Given the description of an element on the screen output the (x, y) to click on. 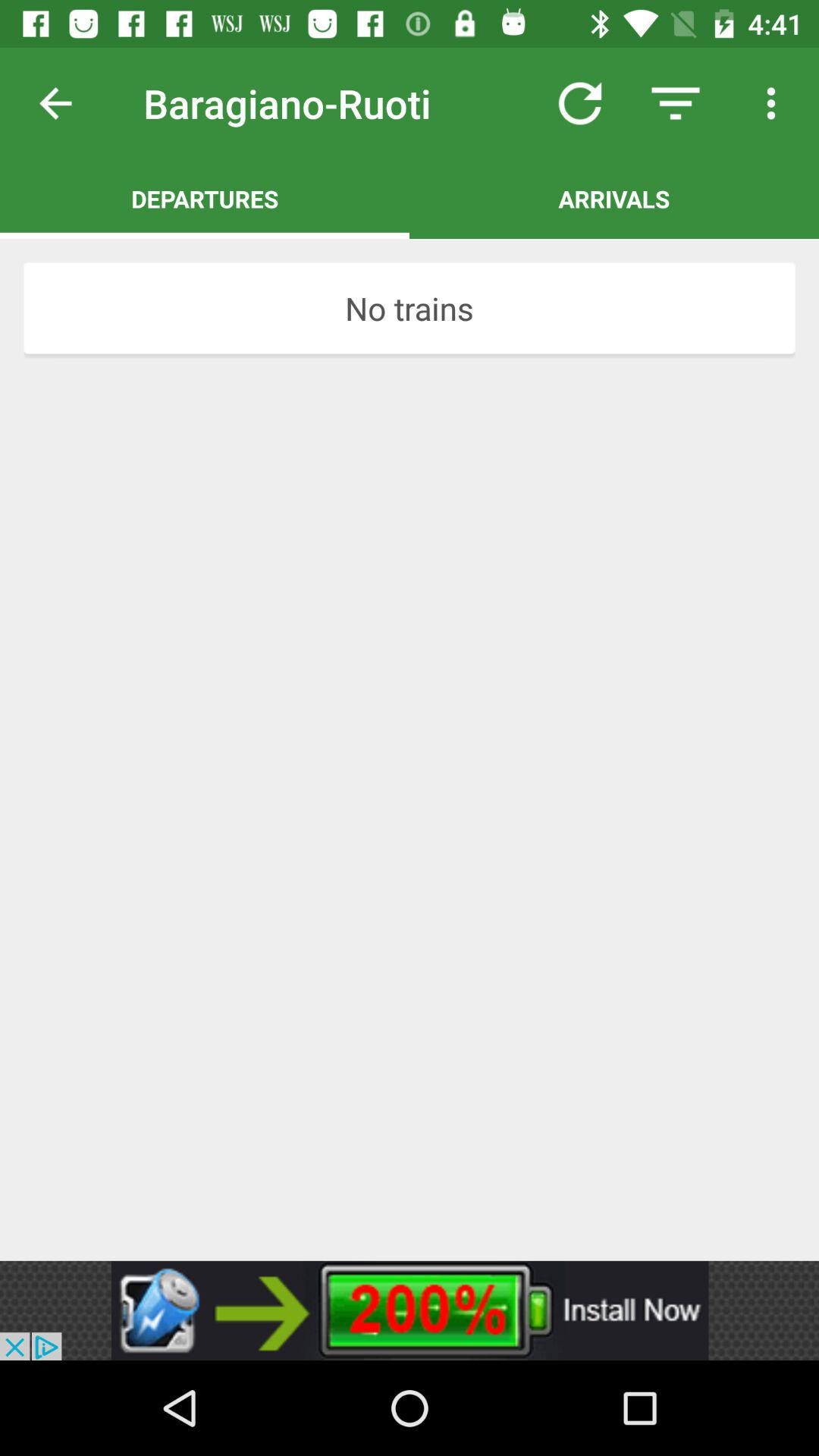
go to back (67, 103)
